Given the description of an element on the screen output the (x, y) to click on. 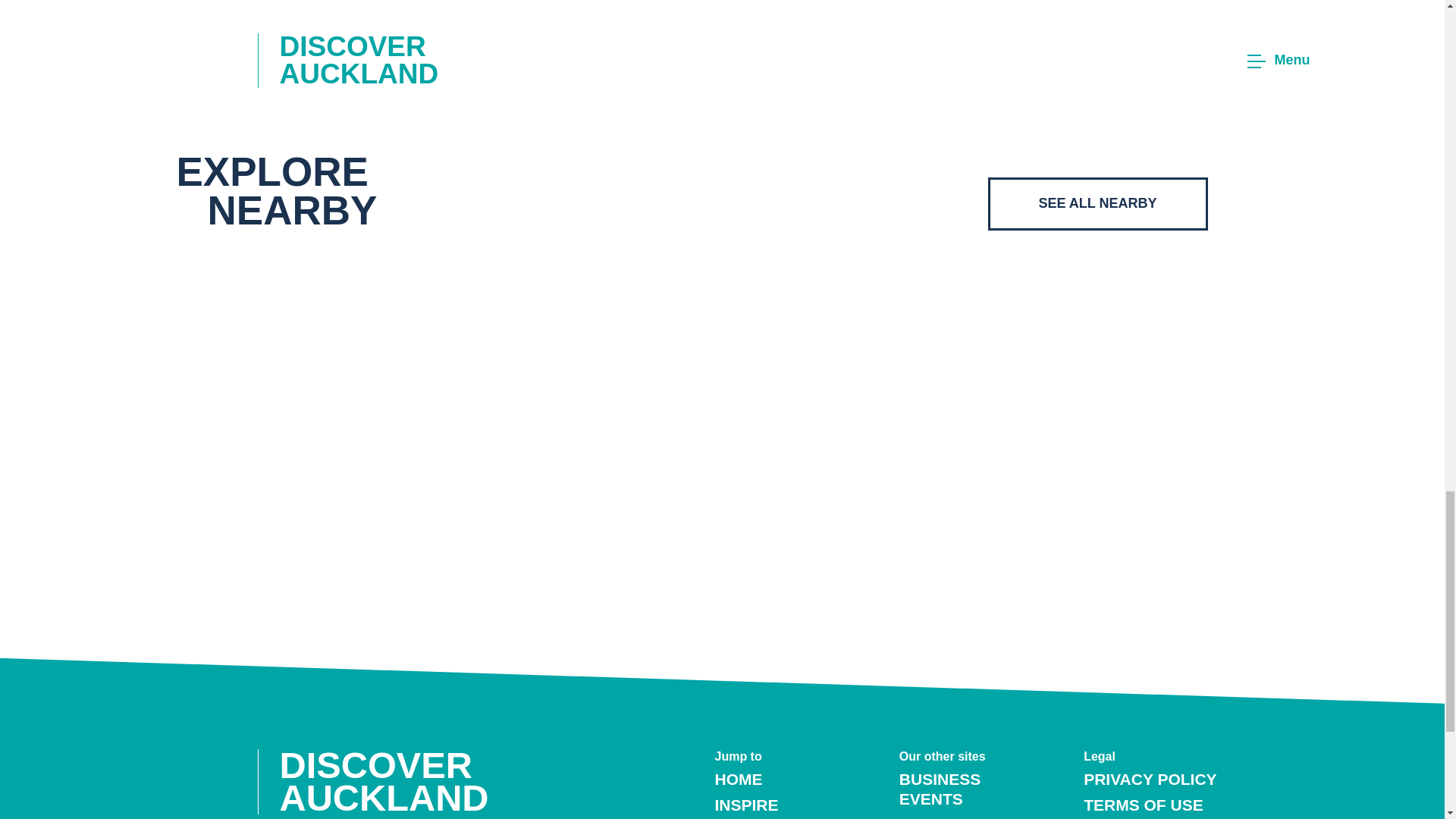
INSPIRE (745, 805)
SEE ALL NEARBY (1097, 203)
DISCOVER AUCKLAND (394, 781)
HOME (737, 778)
